Given the description of an element on the screen output the (x, y) to click on. 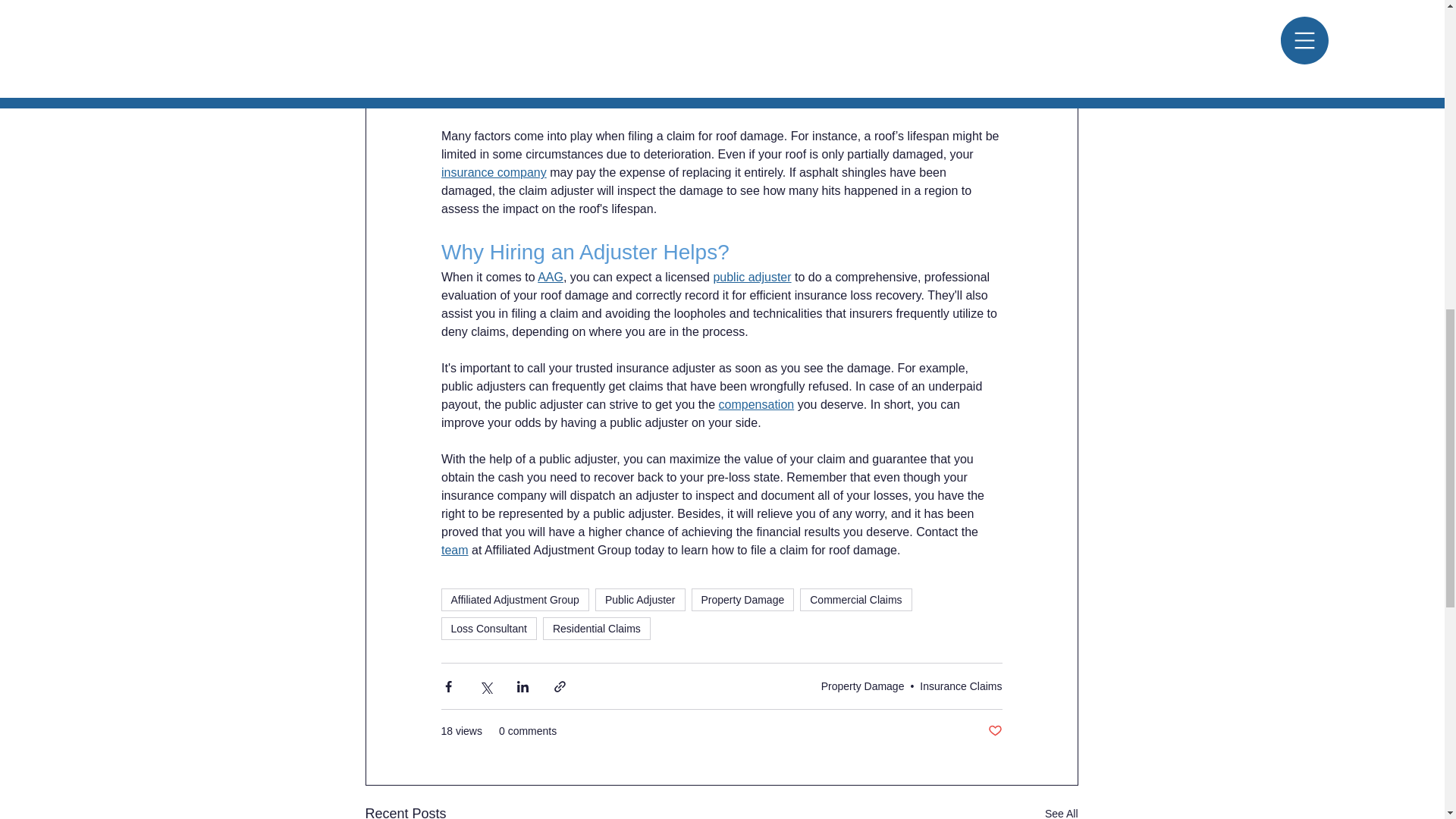
insurance claim adjusters (581, 0)
Loss Consultant (489, 628)
Post not marked as liked (994, 731)
public adjuster (751, 277)
team (454, 549)
Affiliated Adjustment Group (515, 599)
Residential Claims (596, 628)
Public Adjuster (640, 599)
Property Damage (862, 686)
insurance (698, 62)
Commercial Claims (855, 599)
Property Damage (742, 599)
insurance company (494, 172)
See All (1061, 811)
compensation (755, 404)
